Given the description of an element on the screen output the (x, y) to click on. 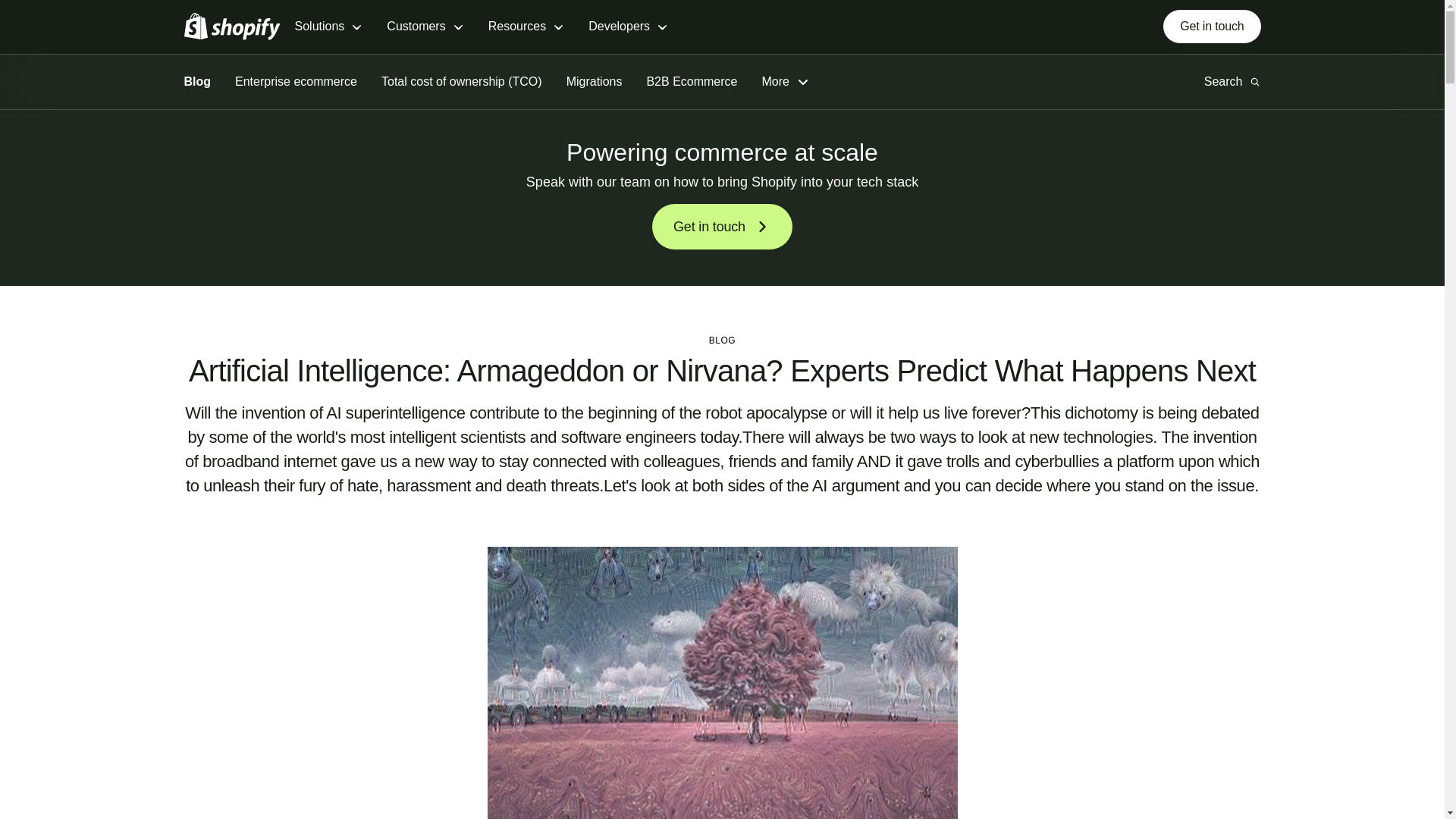
Customers (425, 27)
Solutions (328, 27)
Developers (628, 27)
Resources (525, 27)
